Given the description of an element on the screen output the (x, y) to click on. 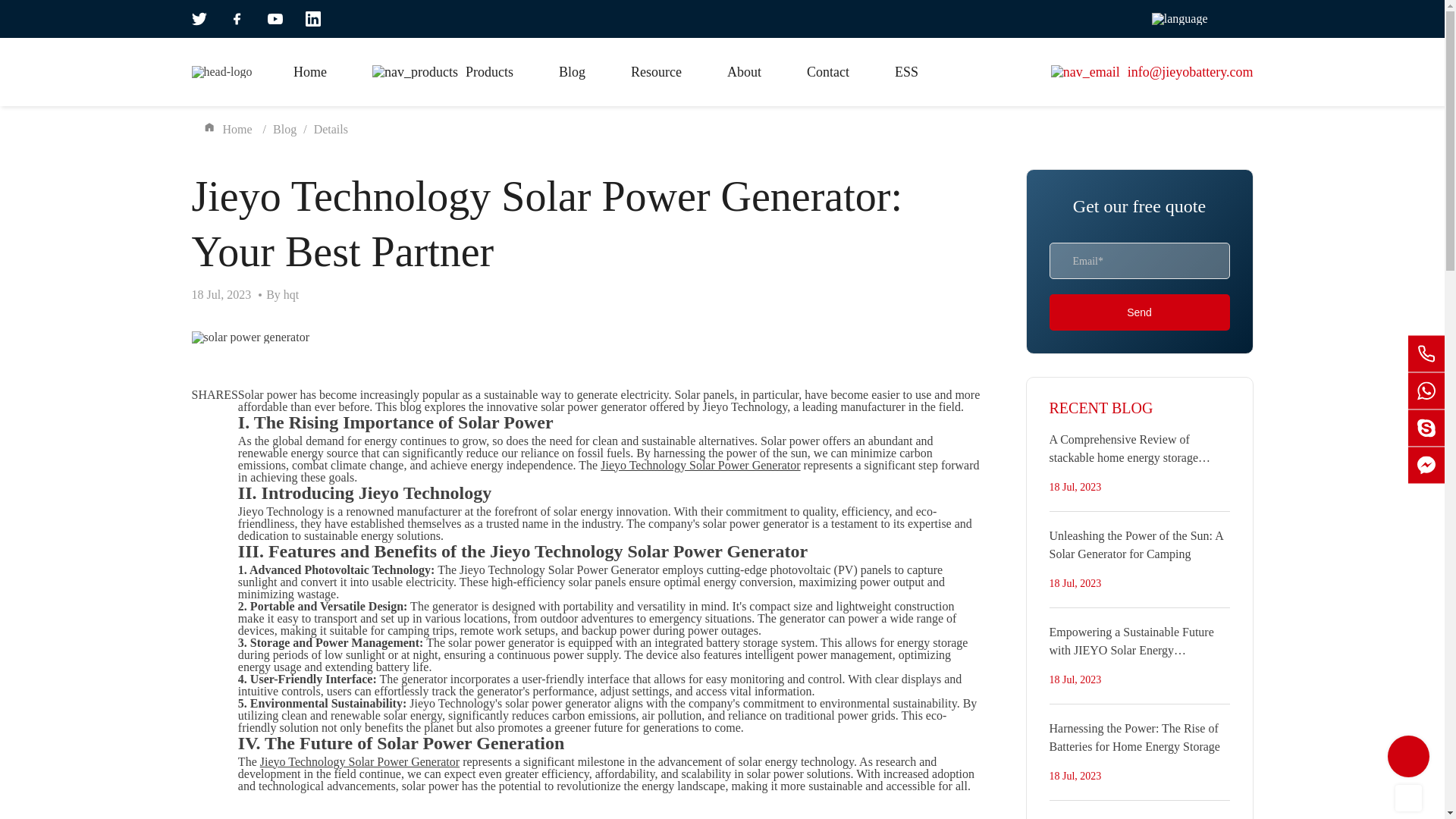
Resource (655, 71)
Home (310, 71)
About (743, 71)
ESS (906, 71)
Products (442, 71)
Contact (827, 71)
Send (1139, 312)
Blog (572, 71)
